Given the description of an element on the screen output the (x, y) to click on. 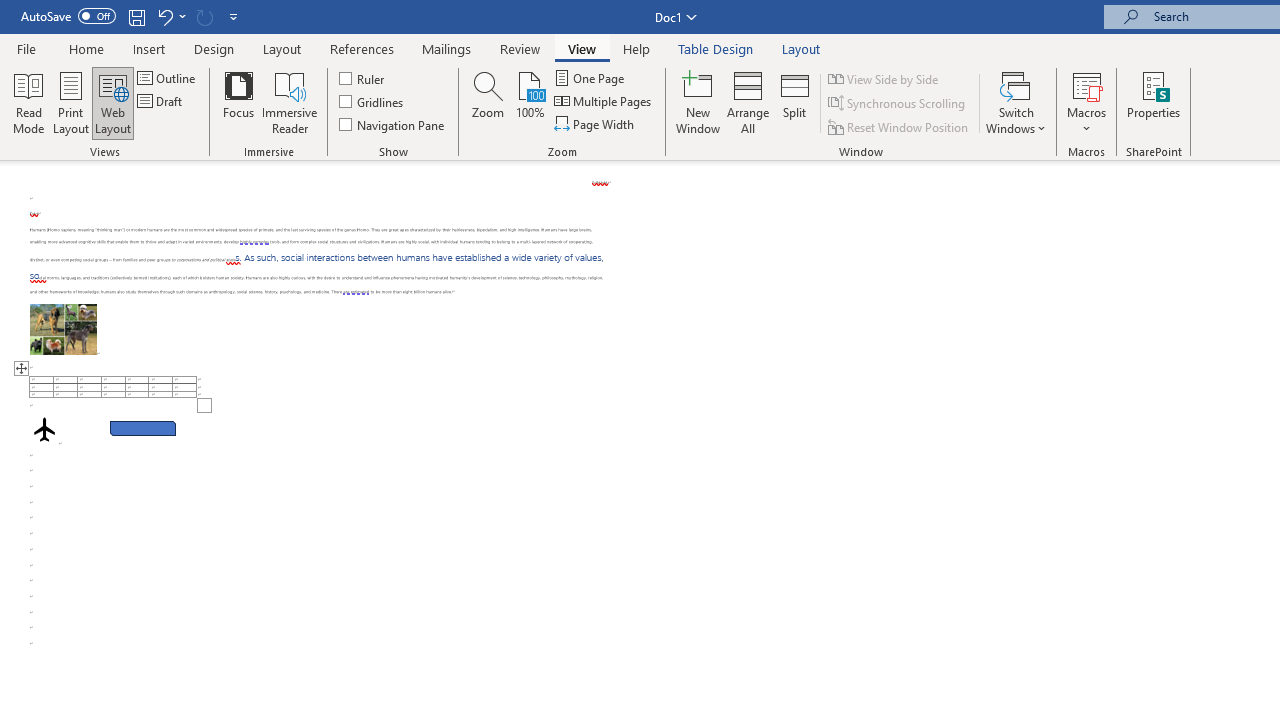
Immersive Reader (289, 102)
100% (529, 102)
Ruler (362, 78)
Draft (161, 101)
Synchronous Scrolling (898, 103)
Multiple Pages (603, 101)
Airplane with solid fill (43, 429)
Morphological variation in six dogs (63, 328)
